Given the description of an element on the screen output the (x, y) to click on. 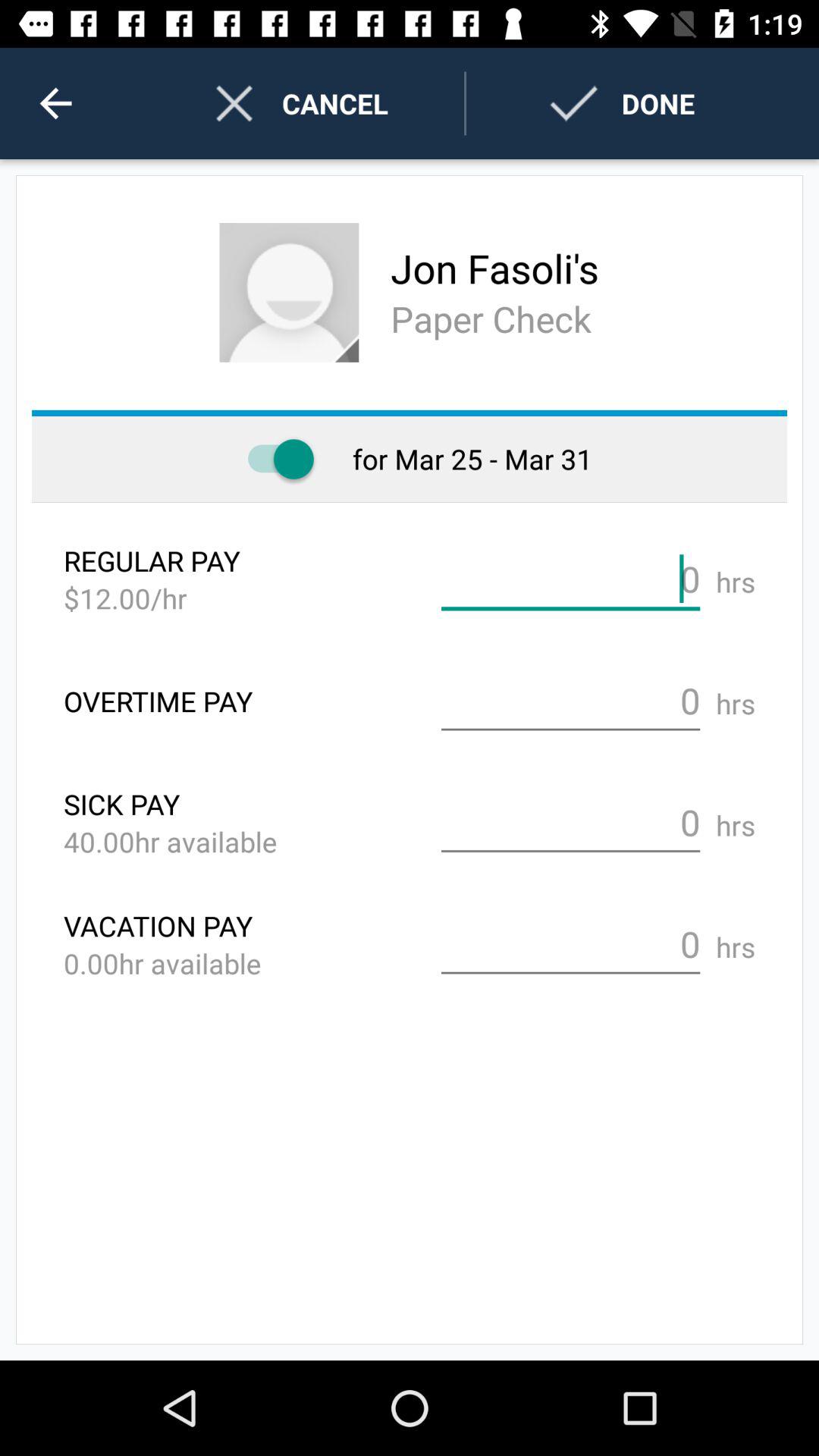
enter vacation pay (570, 944)
